Given the description of an element on the screen output the (x, y) to click on. 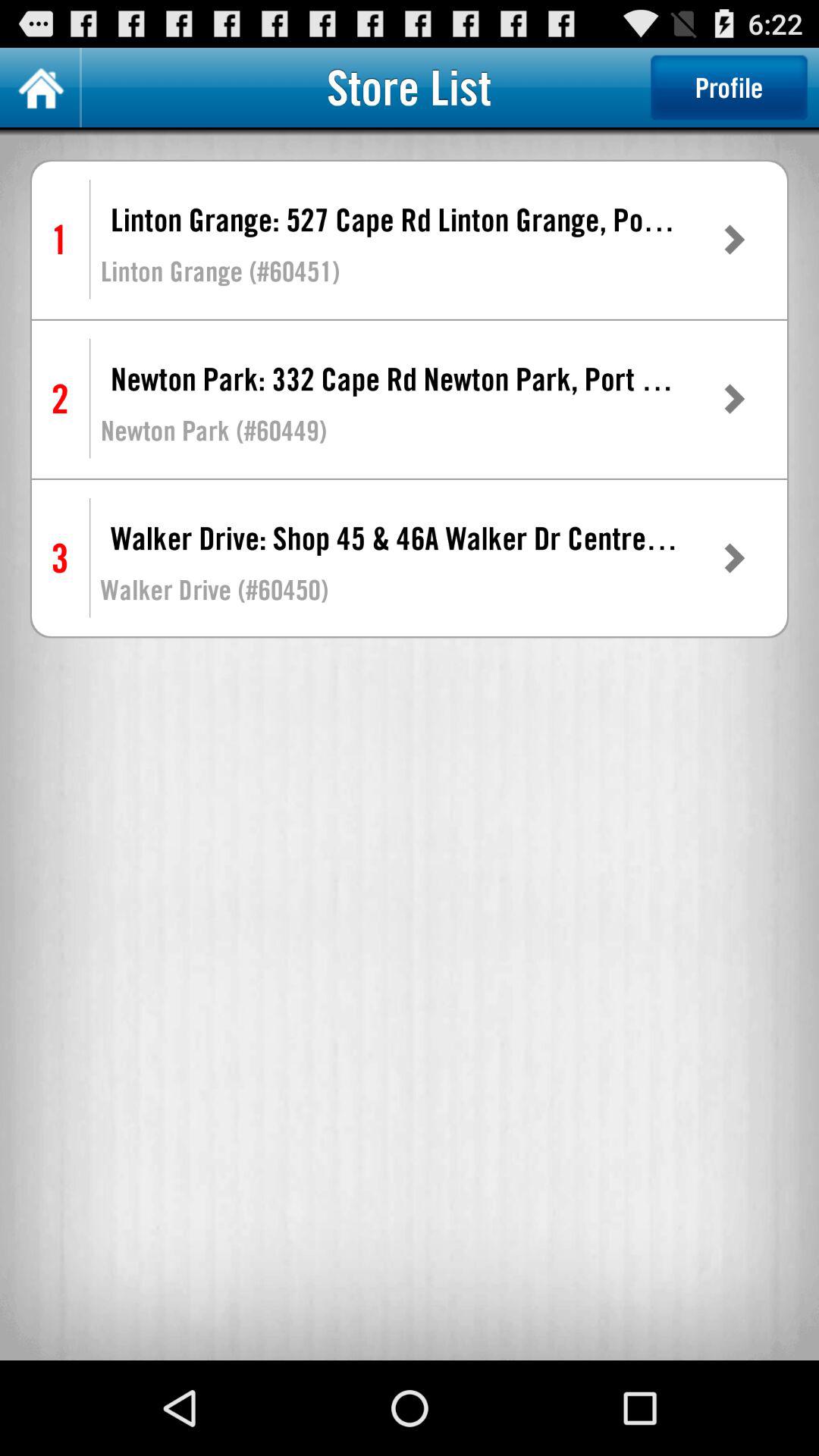
swipe to the 3 item (59, 558)
